Given the description of an element on the screen output the (x, y) to click on. 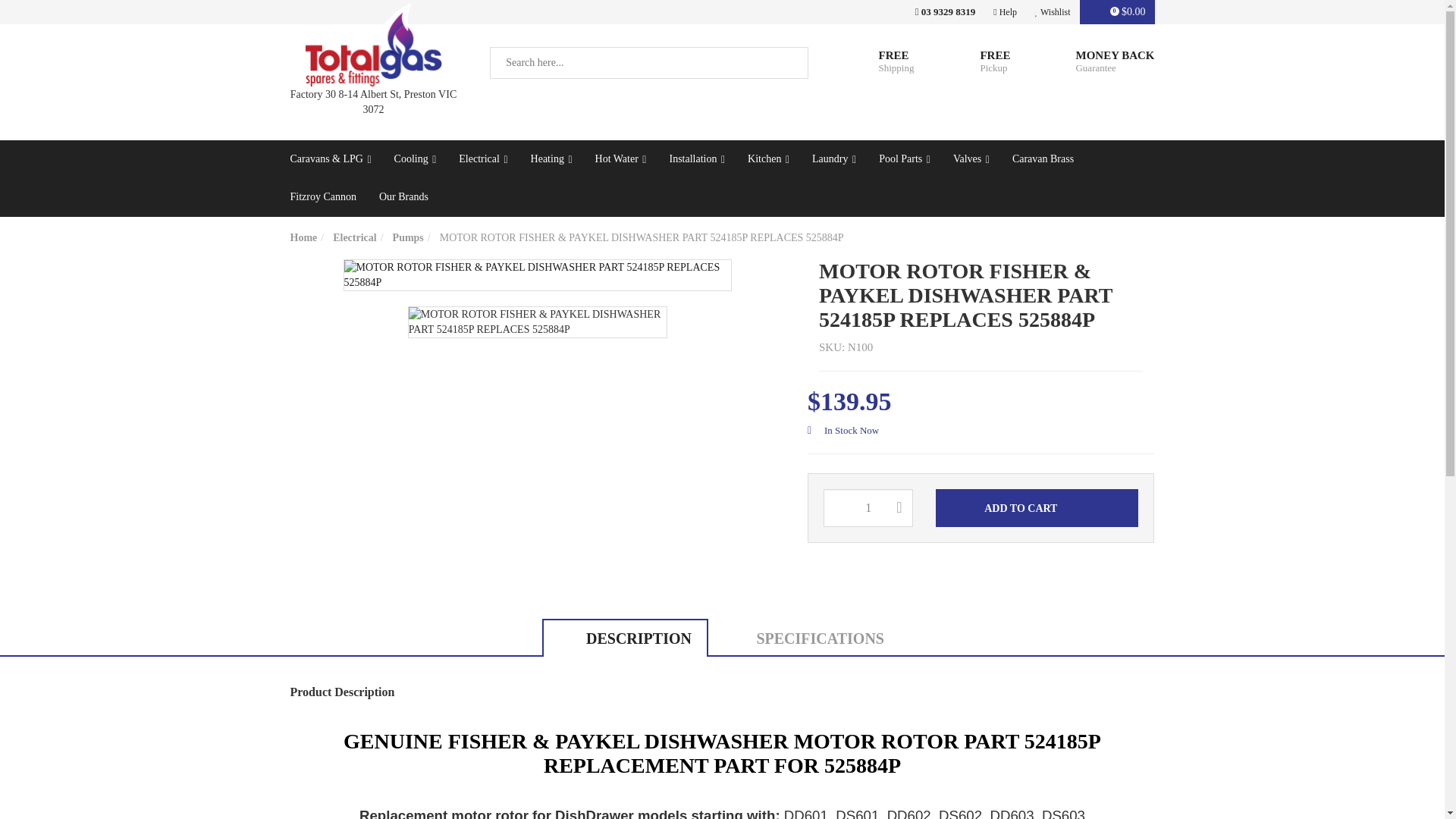
Help (1005, 12)
Phone (945, 12)
Hot Water (620, 159)
 Wishlist (1053, 12)
 03 9329 8319 (945, 12)
Heating (551, 159)
Add to Cart (1037, 507)
Search (792, 62)
Wishlist (1053, 12)
Electrical (482, 159)
